Given the description of an element on the screen output the (x, y) to click on. 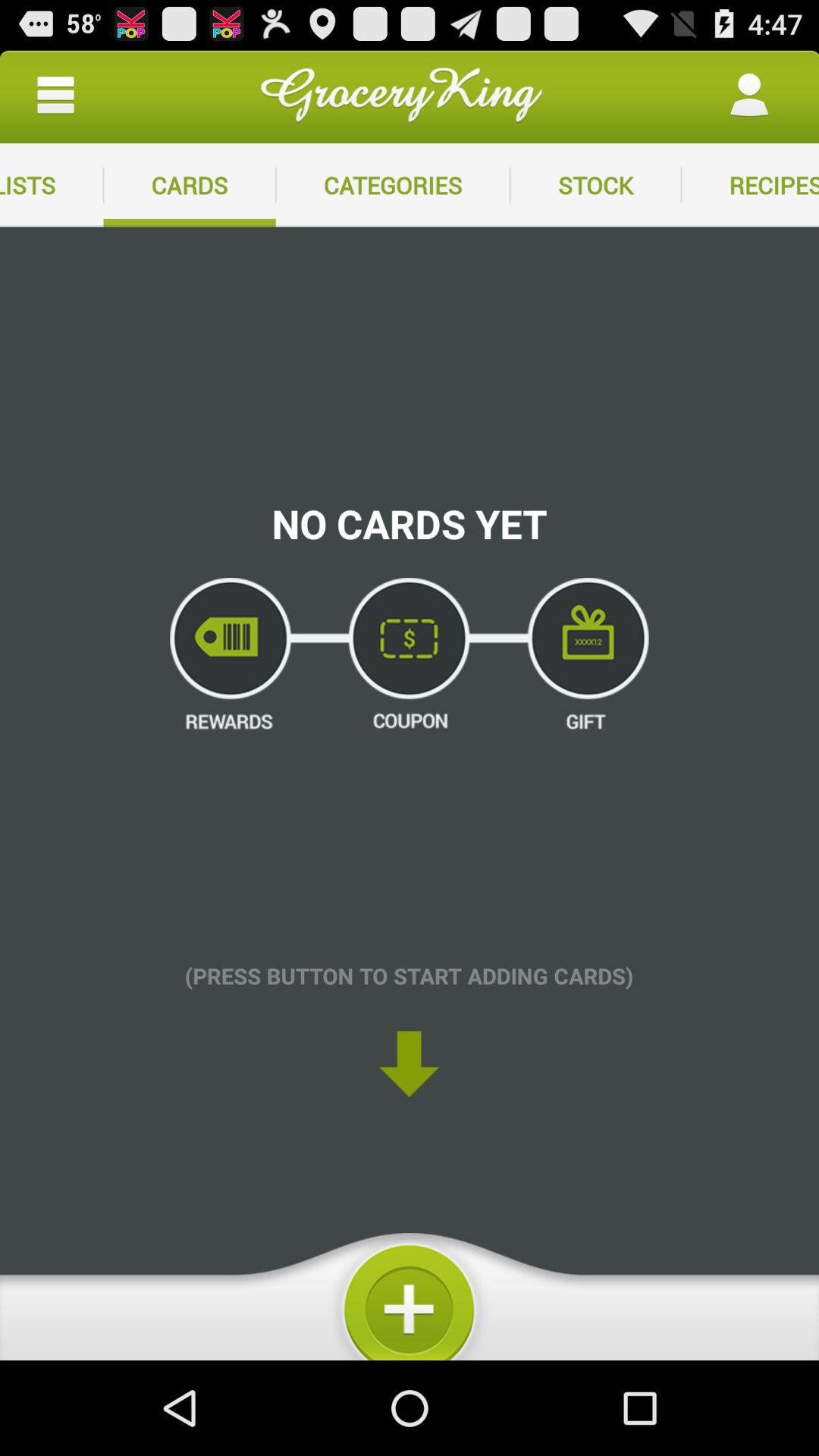
select categories item (392, 184)
